Given the description of an element on the screen output the (x, y) to click on. 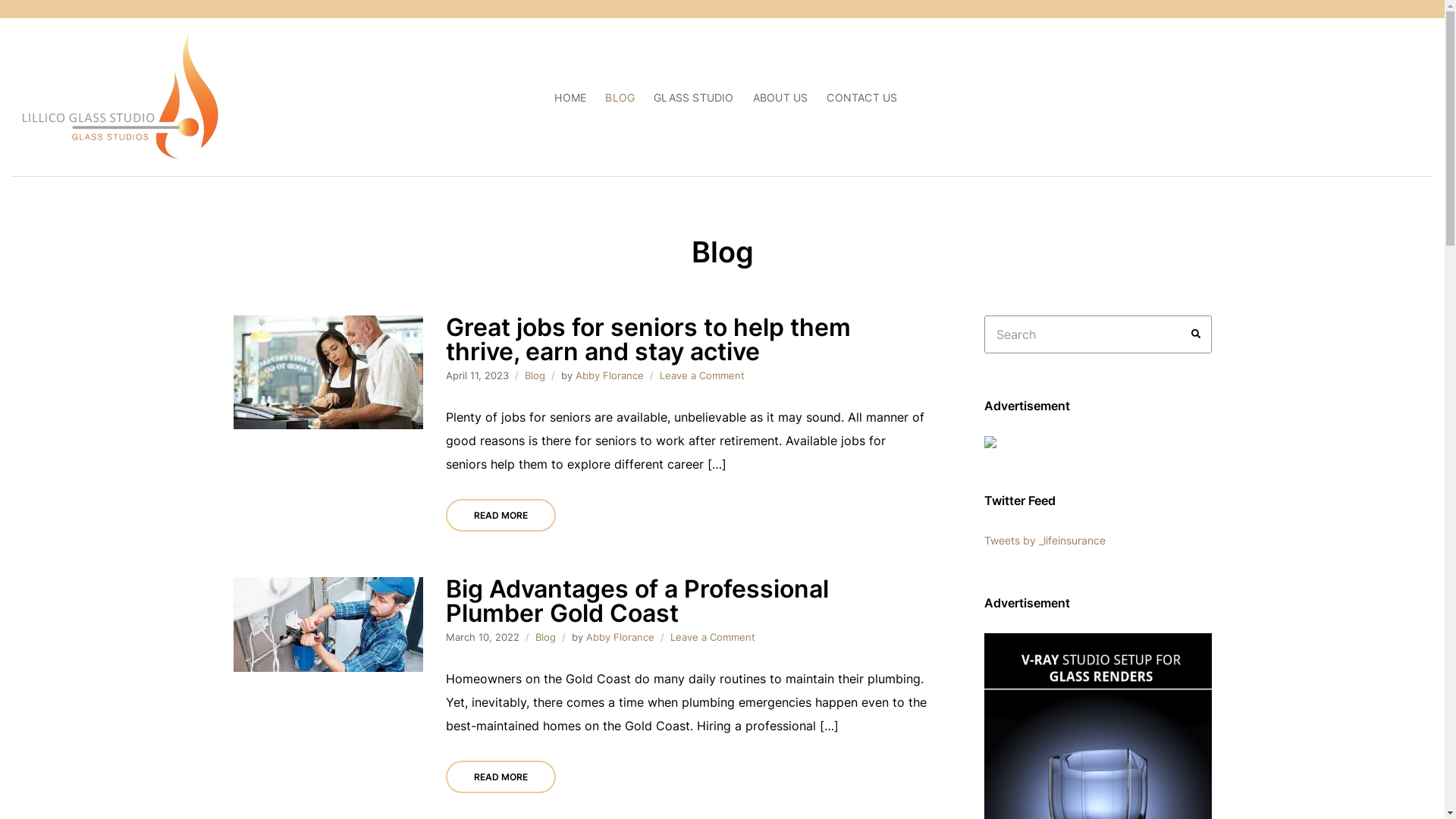
HOME Element type: text (570, 97)
SEARCH Element type: text (1195, 334)
Abby Florance Element type: text (619, 636)
Big Advantages of a Professional Plumber Gold Coast Element type: text (636, 600)
CONTACT US Element type: text (861, 97)
READ MORE Element type: text (500, 776)
Blog Element type: text (534, 375)
ABOUT US Element type: text (780, 97)
Tweets by _lifeinsurance Element type: text (1044, 539)
READ MORE Element type: text (500, 514)
Abby Florance Element type: text (608, 375)
Blog Element type: text (545, 636)
BLOG Element type: text (619, 97)
GLASS STUDIO Element type: text (693, 97)
